Given the description of an element on the screen output the (x, y) to click on. 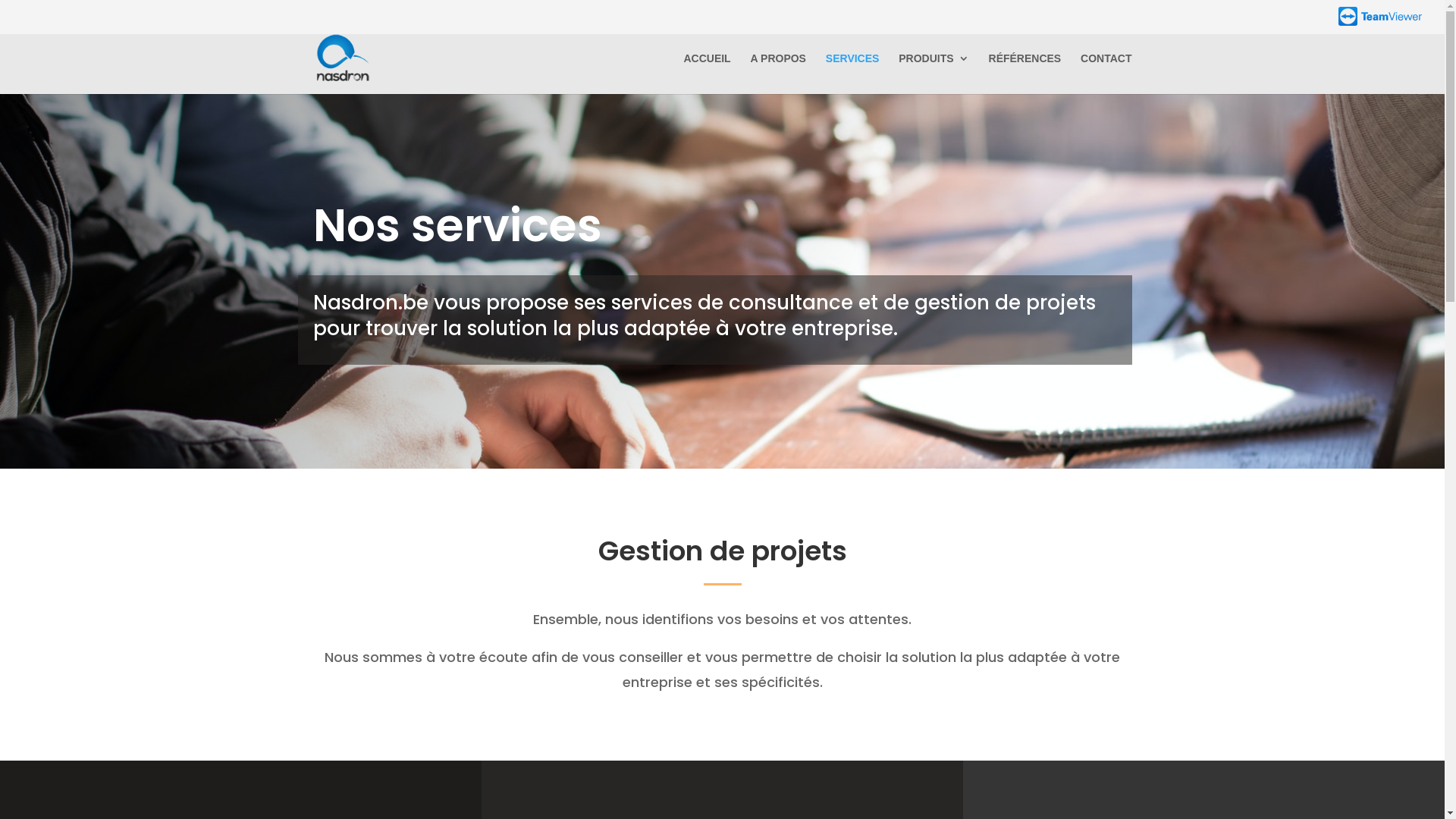
ACCUEIL Element type: text (706, 73)
SERVICES Element type: text (852, 73)
PRODUITS Element type: text (933, 73)
A PROPOS Element type: text (778, 73)
CONTACT Element type: text (1105, 73)
